Given the description of an element on the screen output the (x, y) to click on. 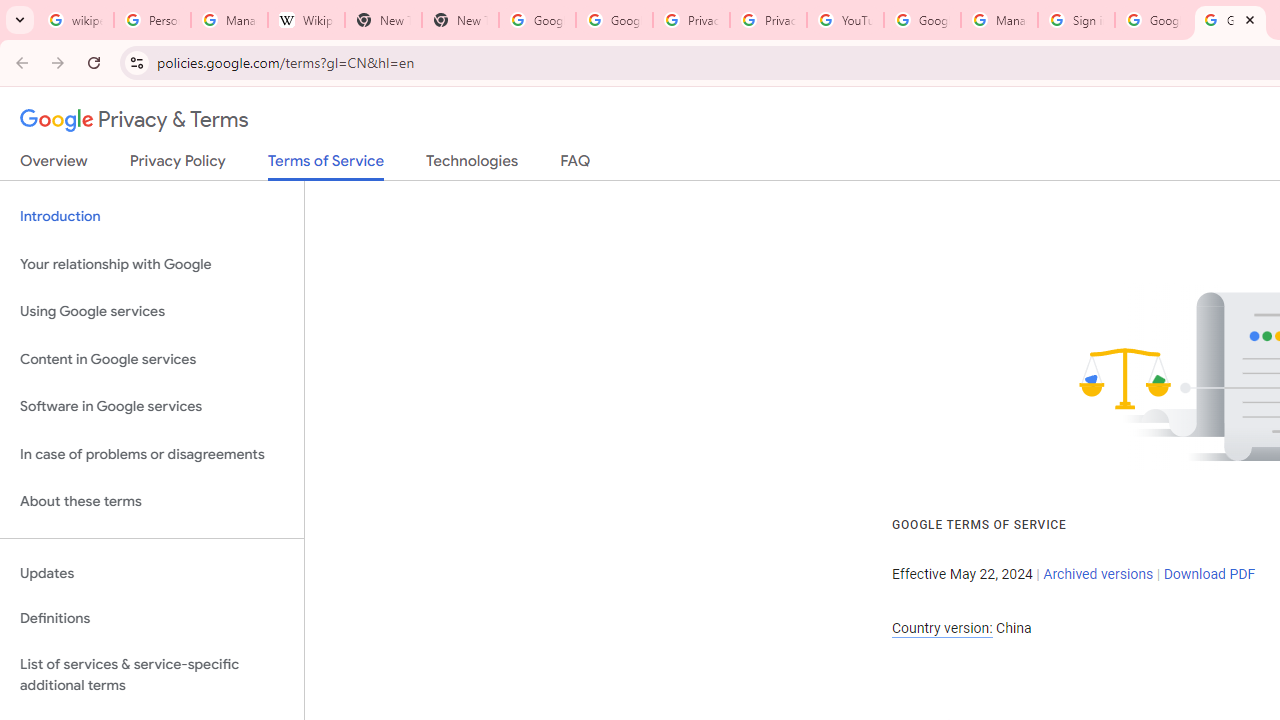
Personalization & Google Search results - Google Search Help (151, 20)
FAQ (575, 165)
Download PDF (1209, 574)
Country version: (942, 628)
Terms of Service (326, 166)
Using Google services (152, 312)
Sign in - Google Accounts (1076, 20)
Privacy Policy (177, 165)
Content in Google services (152, 358)
YouTube (845, 20)
Privacy & Terms (134, 120)
